Given the description of an element on the screen output the (x, y) to click on. 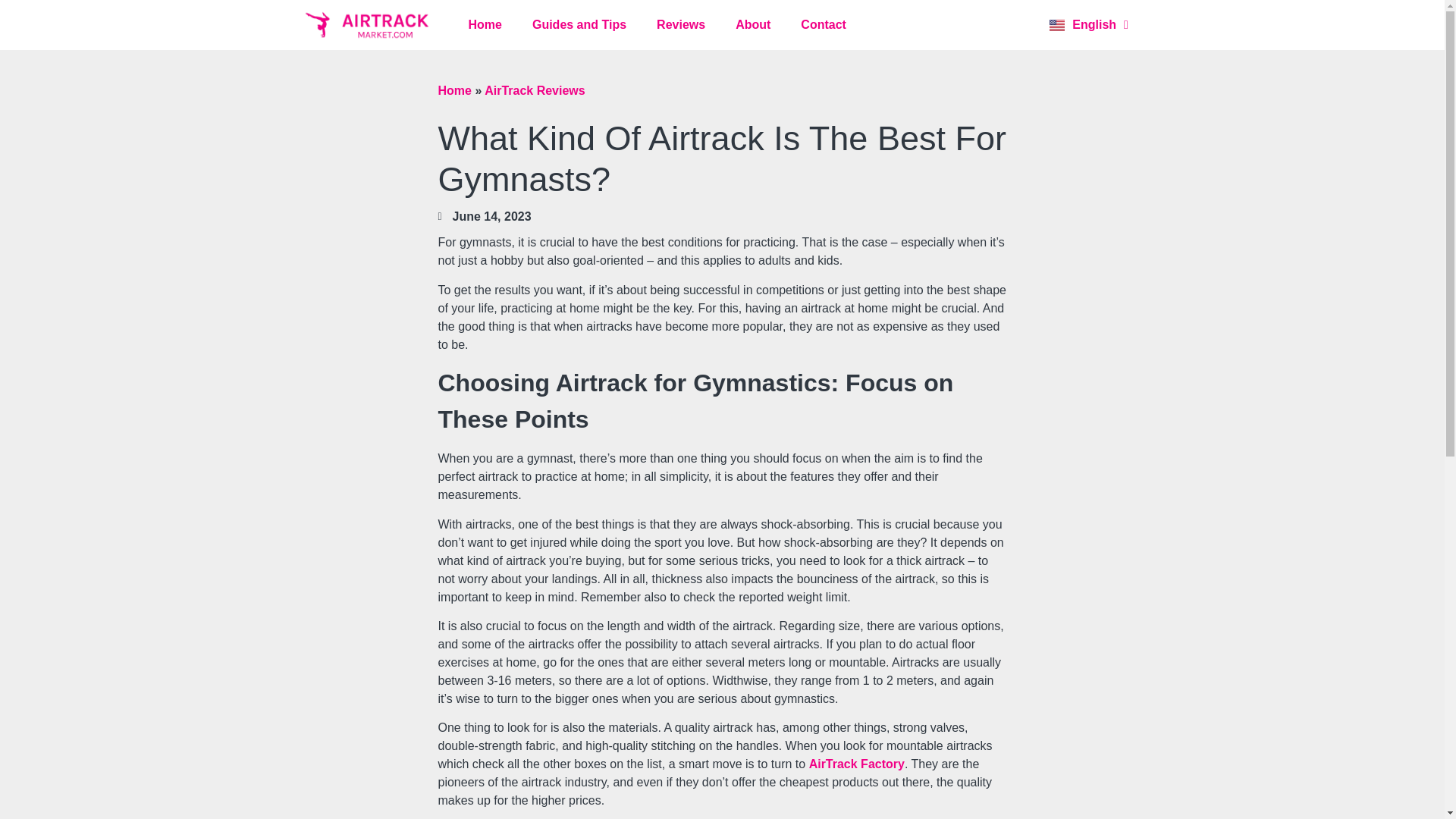
AirTrack Factory (856, 763)
About (753, 24)
Guides and Tips (579, 24)
Contact (823, 24)
Home (484, 24)
Home (454, 90)
AirTrack Reviews (534, 90)
Reviews (681, 24)
English (1088, 25)
